Given the description of an element on the screen output the (x, y) to click on. 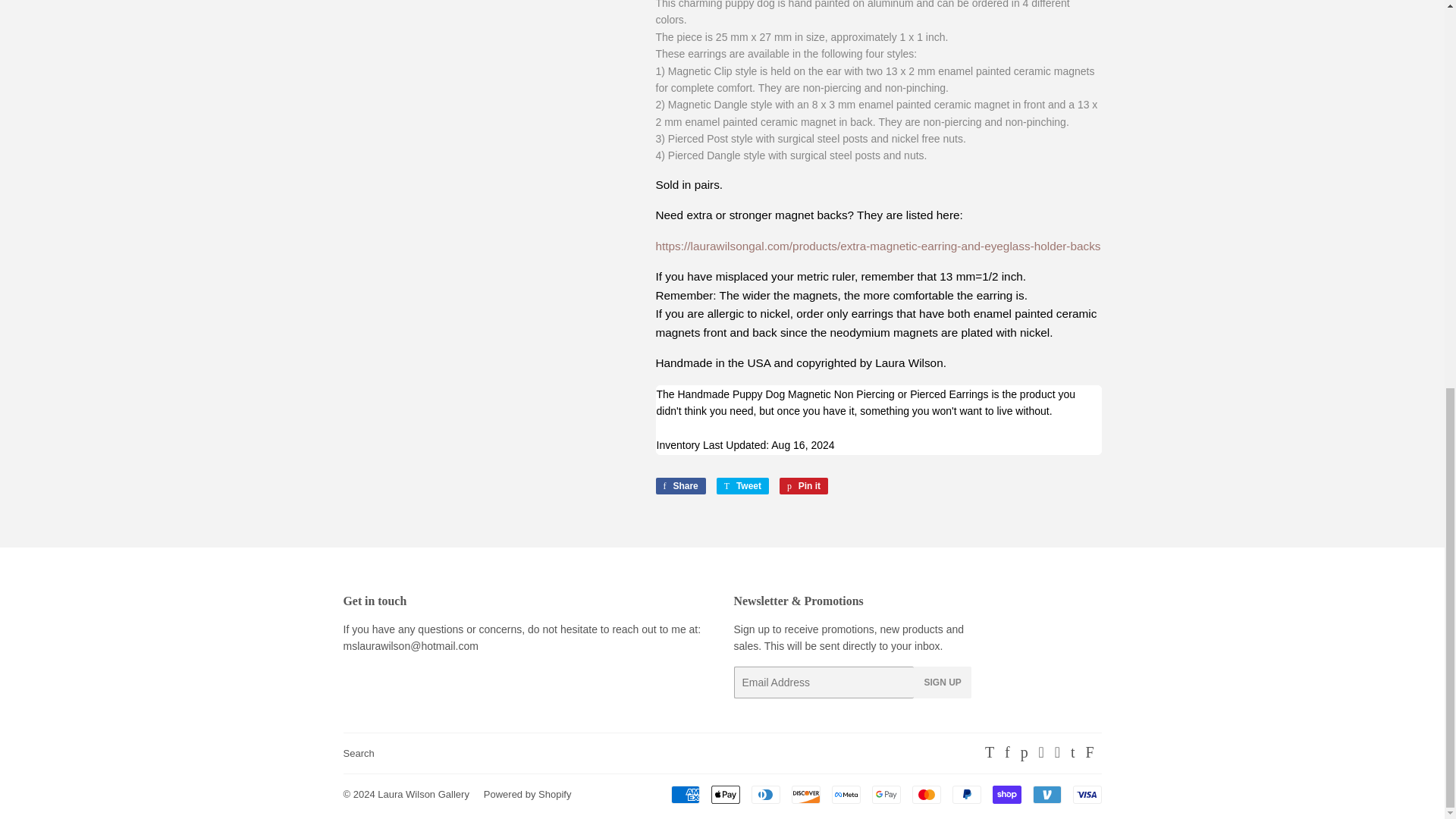
Meta Pay (845, 794)
Apple Pay (725, 794)
Mastercard (925, 794)
Tweet on Twitter (742, 485)
Share on Facebook (679, 485)
Pin on Pinterest (803, 485)
Diners Club (764, 794)
Shop Pay (1005, 794)
PayPal (966, 794)
Venmo (1046, 794)
